Given the description of an element on the screen output the (x, y) to click on. 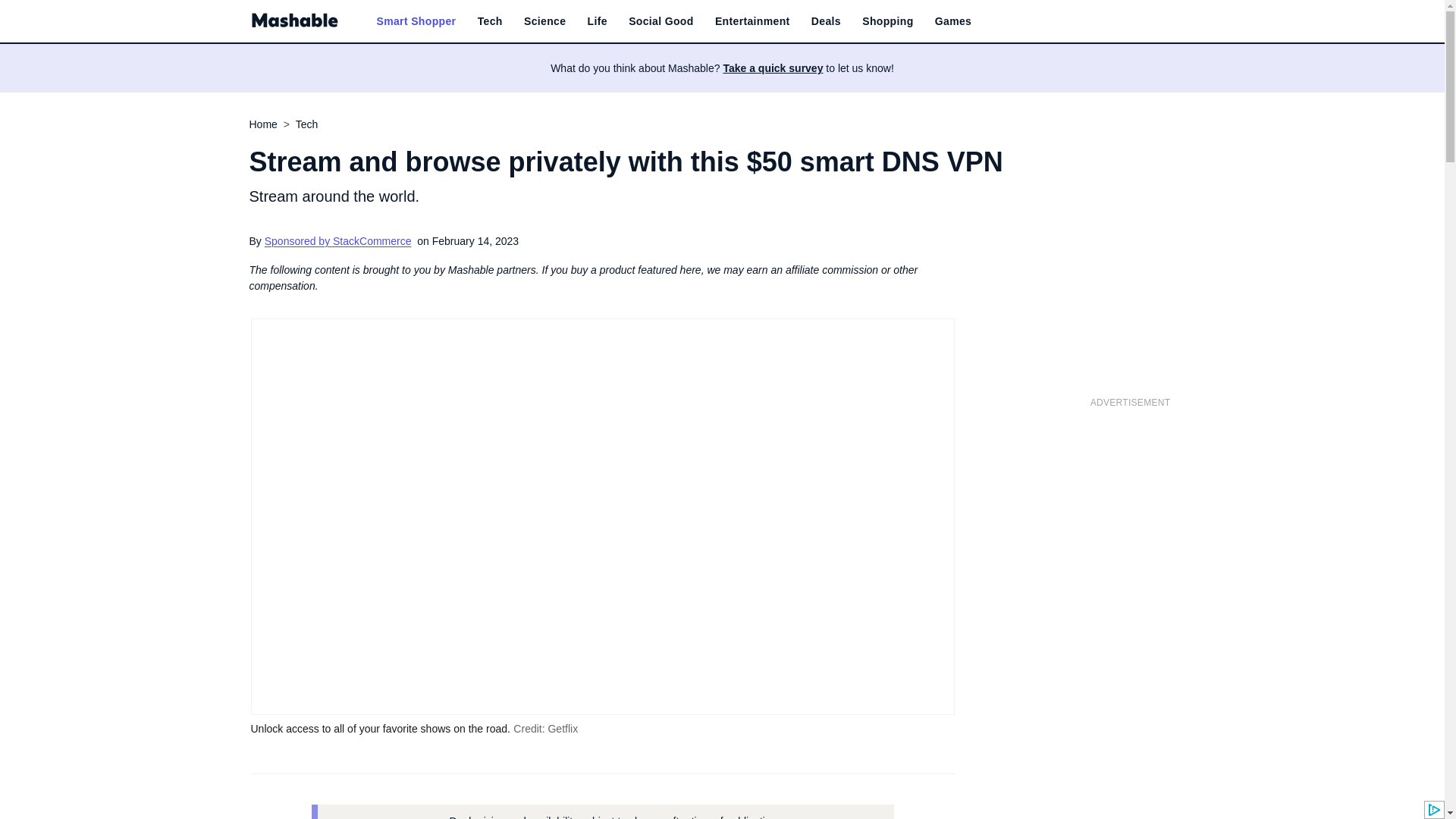
Science (545, 21)
Tech (489, 21)
Games (952, 21)
Life (597, 21)
Shopping (886, 21)
Smart Shopper (415, 21)
Entertainment (752, 21)
Social Good (661, 21)
Deals (825, 21)
